Given the description of an element on the screen output the (x, y) to click on. 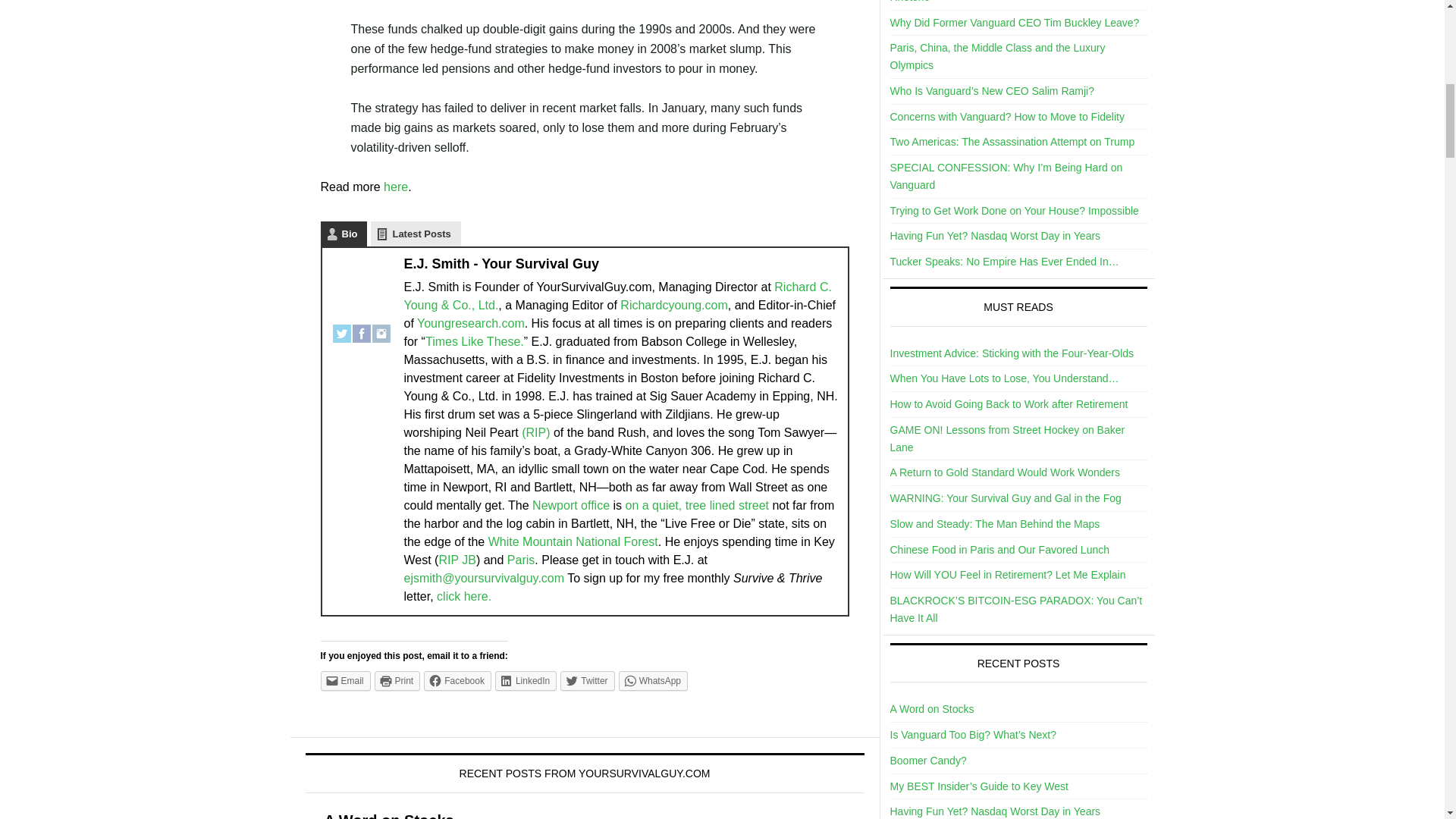
Click to share on WhatsApp (652, 680)
Click to share on Facebook (457, 680)
Twitter (340, 326)
Click to share on LinkedIn (525, 680)
Click to print (397, 680)
Facebook (360, 326)
Click to share on Twitter (587, 680)
Instagram (380, 326)
Click to email this to a friend (344, 680)
